Given the description of an element on the screen output the (x, y) to click on. 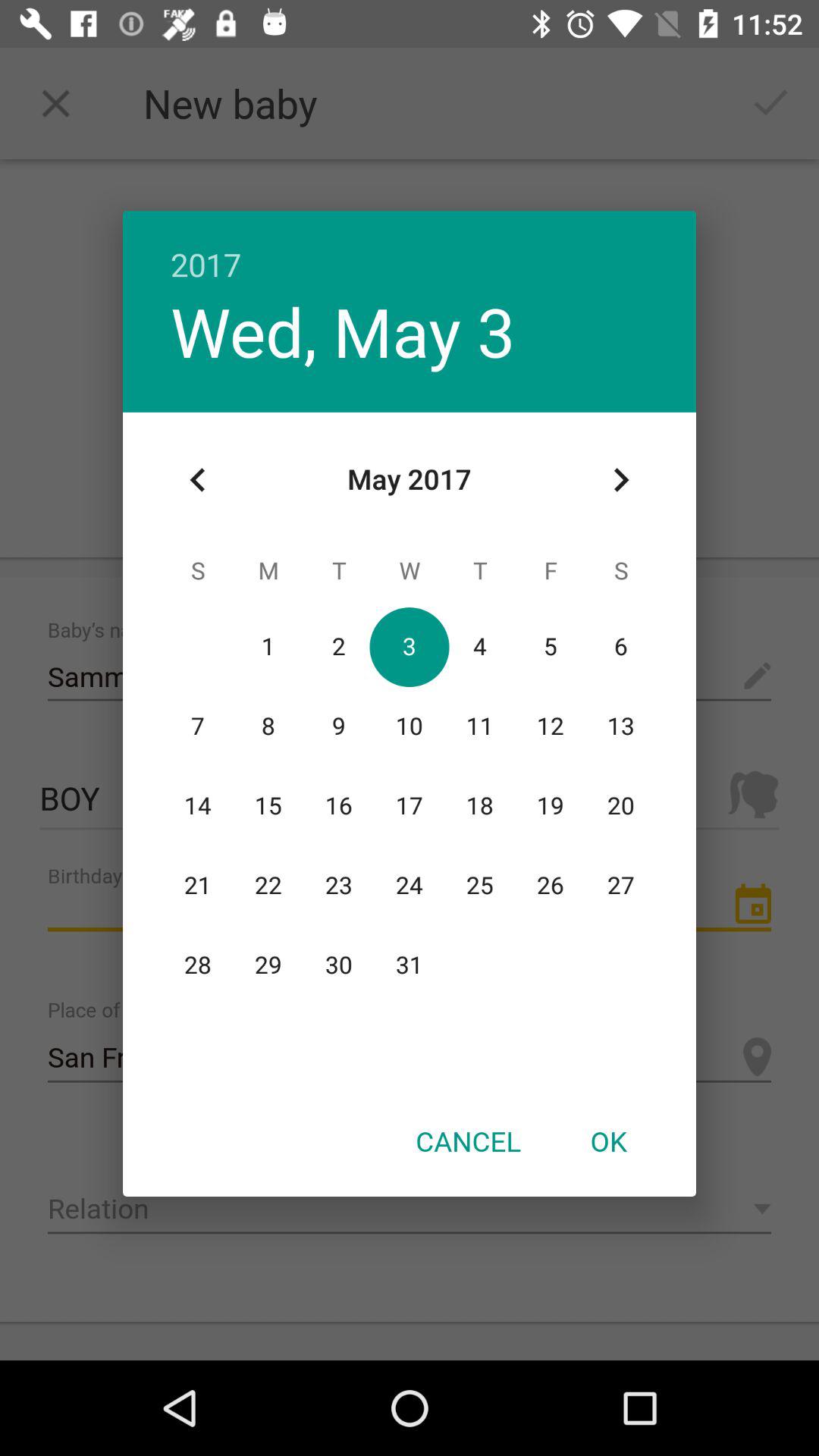
choose ok at the bottom right corner (608, 1140)
